Given the description of an element on the screen output the (x, y) to click on. 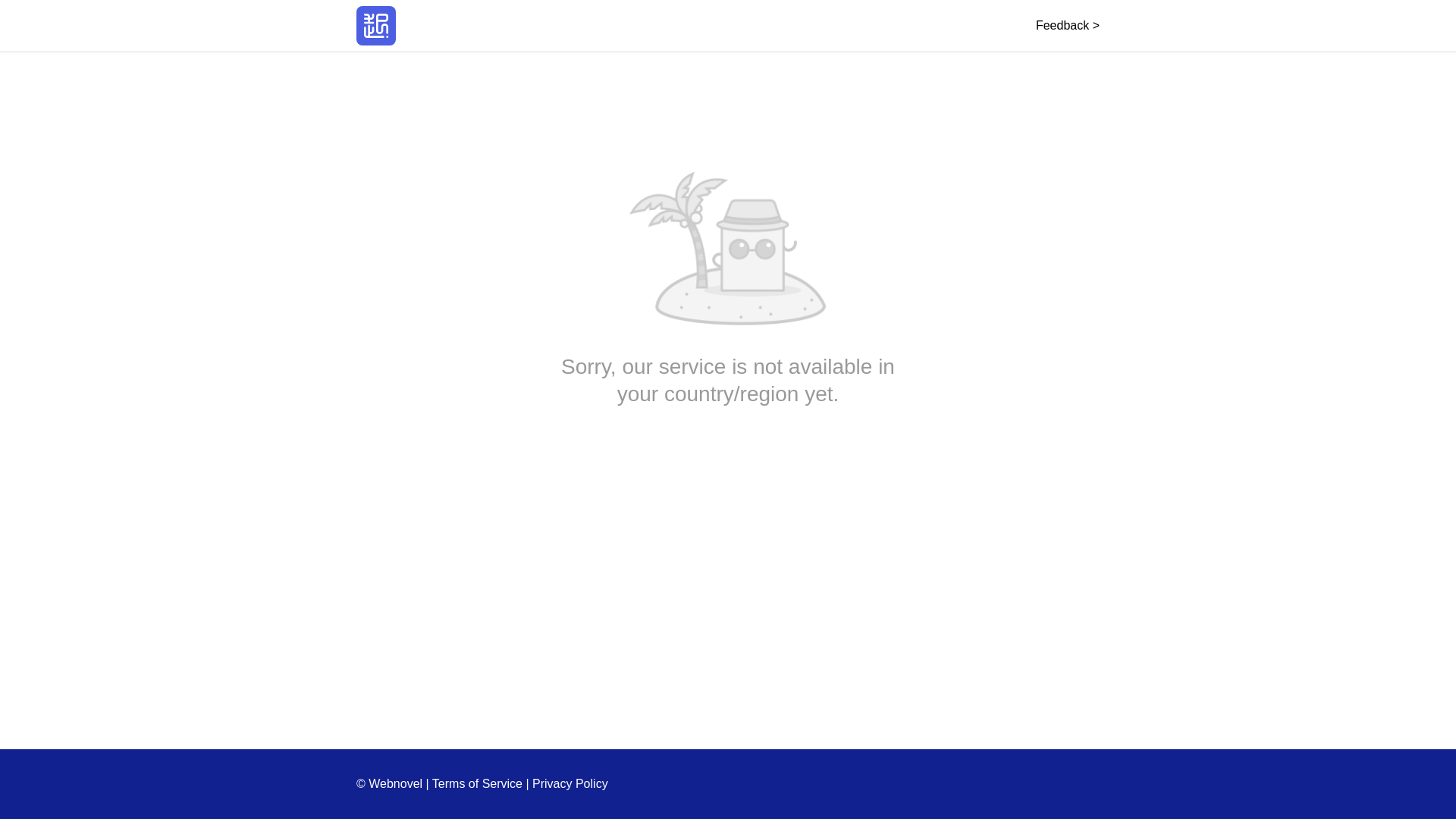
Webnovel (376, 25)
Terms of Service (477, 783)
Webnovel (376, 25)
Privacy Policy (570, 783)
Privacy Policy (570, 783)
Feedback (1067, 24)
Terms of Service (477, 783)
